Given the description of an element on the screen output the (x, y) to click on. 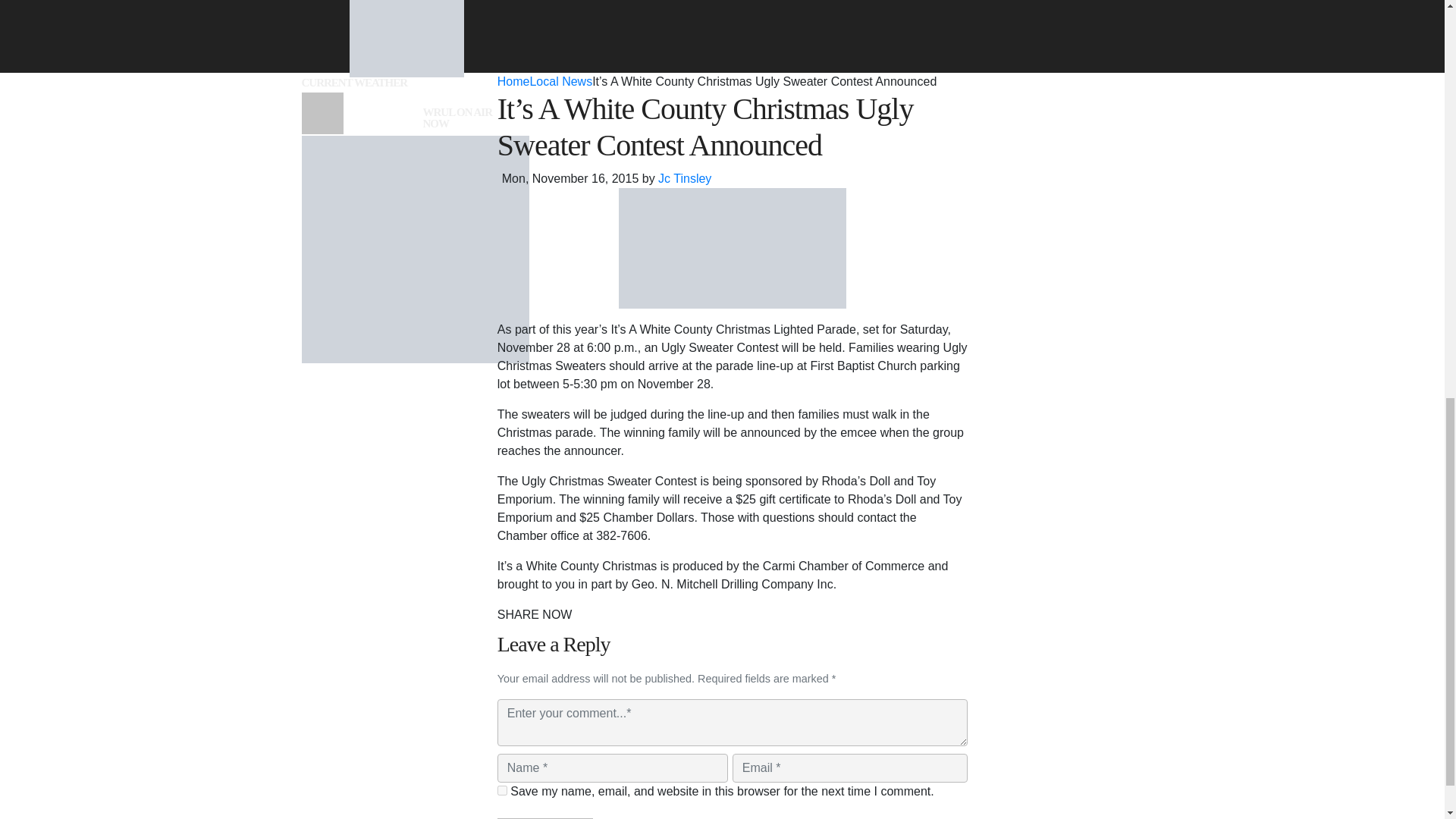
yes (501, 790)
